Given the description of an element on the screen output the (x, y) to click on. 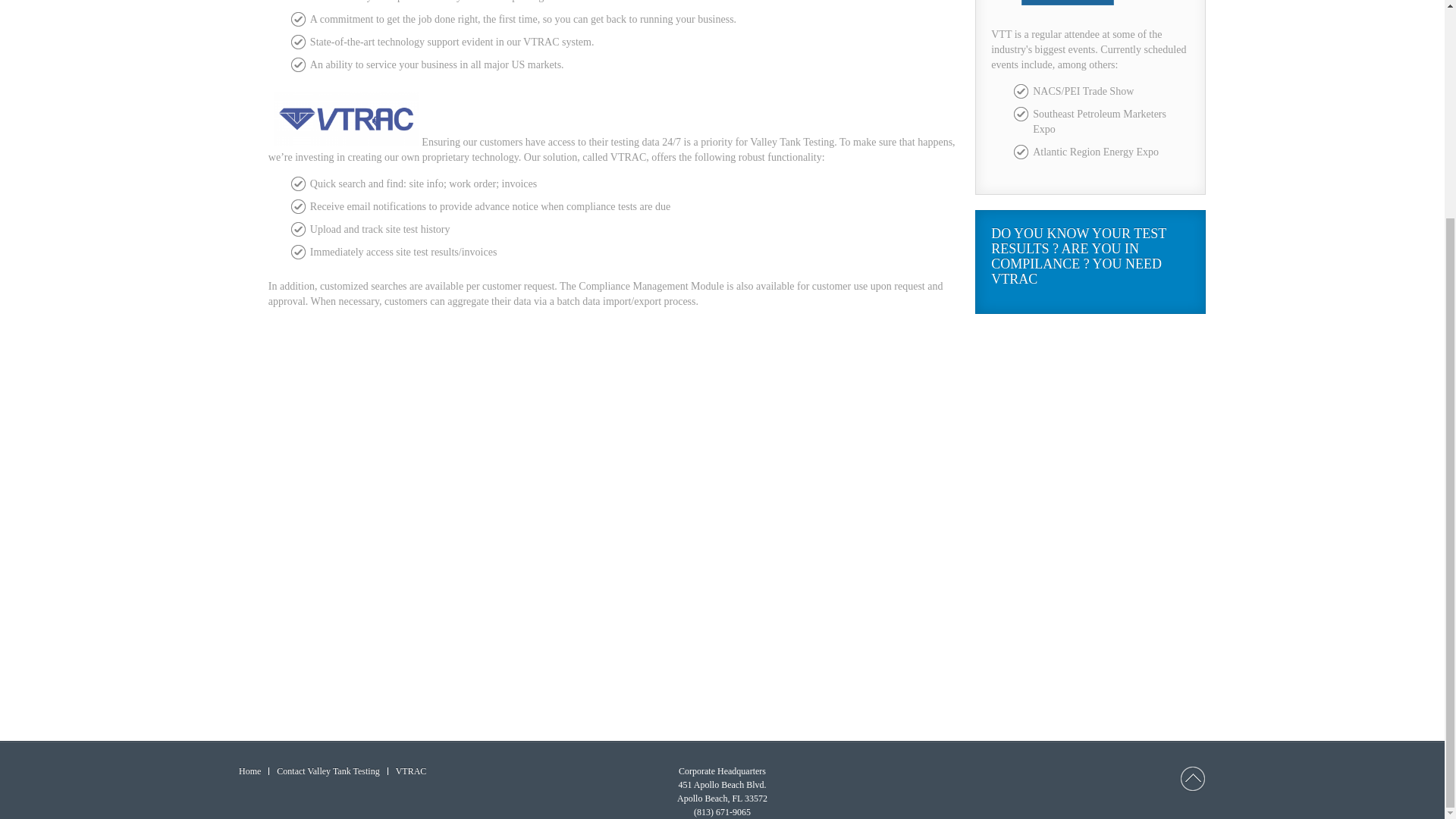
Home (249, 771)
Contact Valley Tank Testing (327, 771)
VTRAC (411, 771)
